Given the description of an element on the screen output the (x, y) to click on. 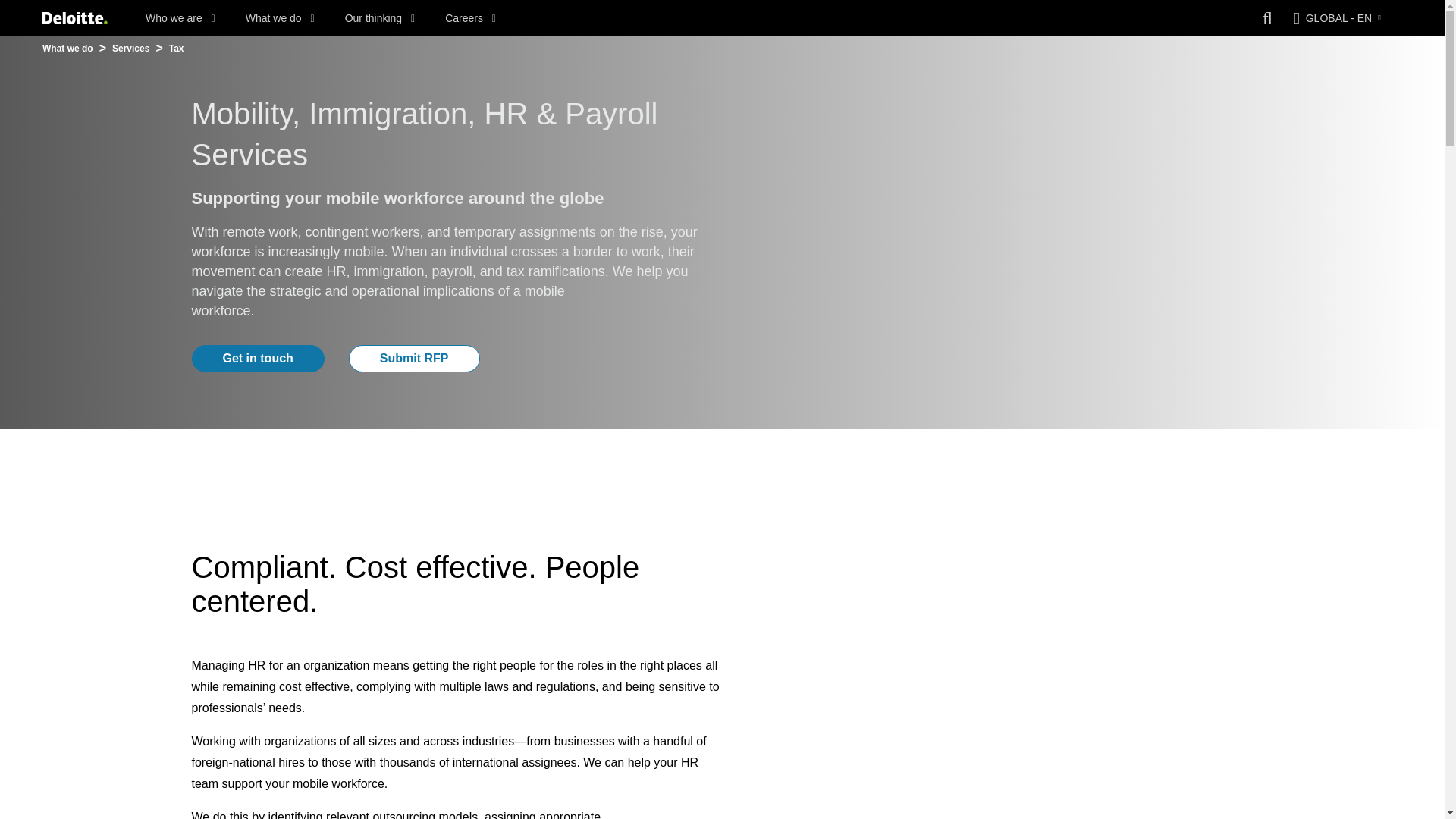
Our thinking (379, 18)
Who we are (180, 18)
What we do (280, 18)
Deloitte (74, 18)
Careers (470, 18)
